Given the description of an element on the screen output the (x, y) to click on. 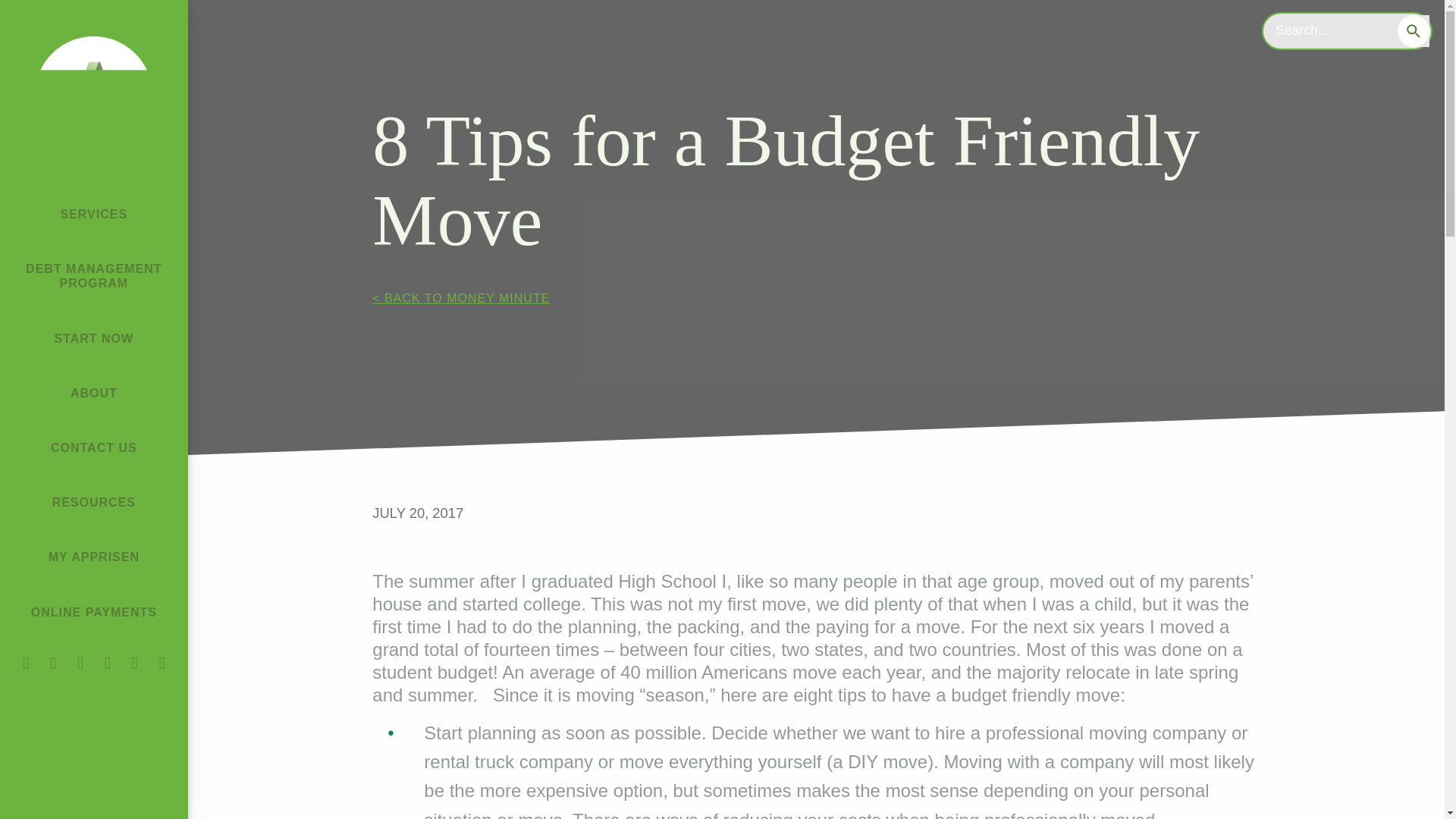
ABOUT (94, 381)
ONLINE PAYMENTS (94, 600)
RESOURCES (93, 491)
DEBT MANAGEMENT PROGRAM (94, 264)
CONTACT US (93, 436)
MY APPRISEN (93, 545)
SERVICES (94, 203)
START NOW (93, 327)
